Given the description of an element on the screen output the (x, y) to click on. 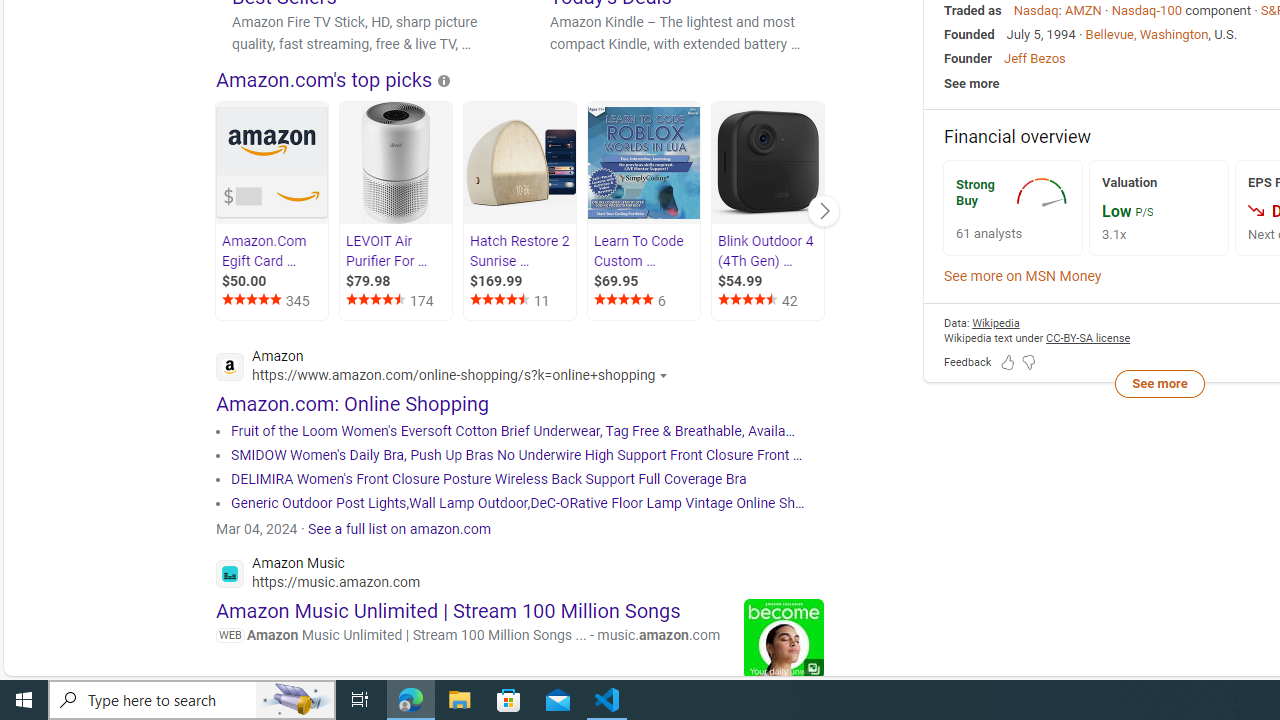
Nasdaq (1035, 10)
